Given the description of an element on the screen output the (x, y) to click on. 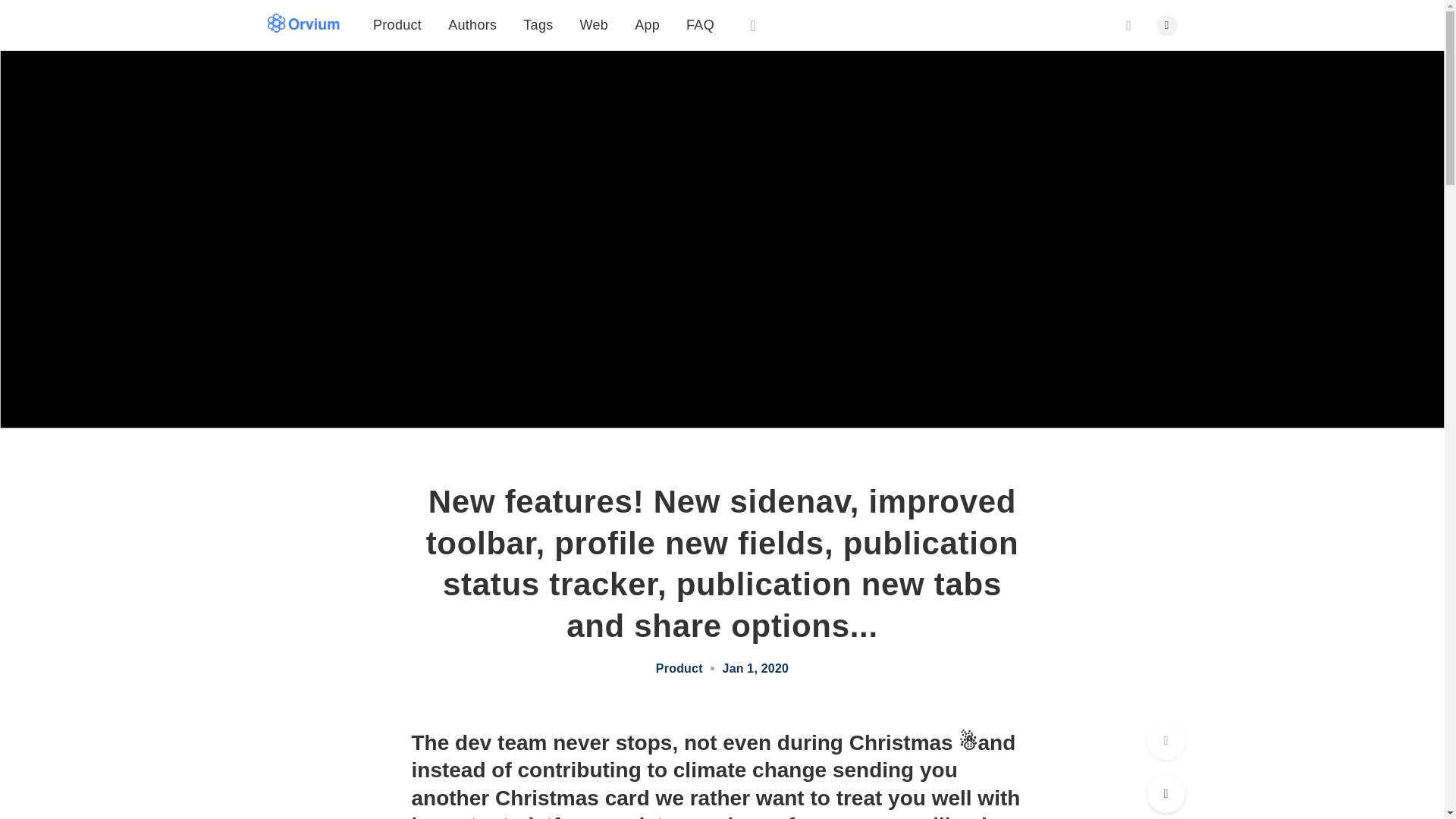
FAQ (699, 17)
Tags (537, 0)
App (646, 12)
Web (593, 7)
Product (679, 700)
